Given the description of an element on the screen output the (x, y) to click on. 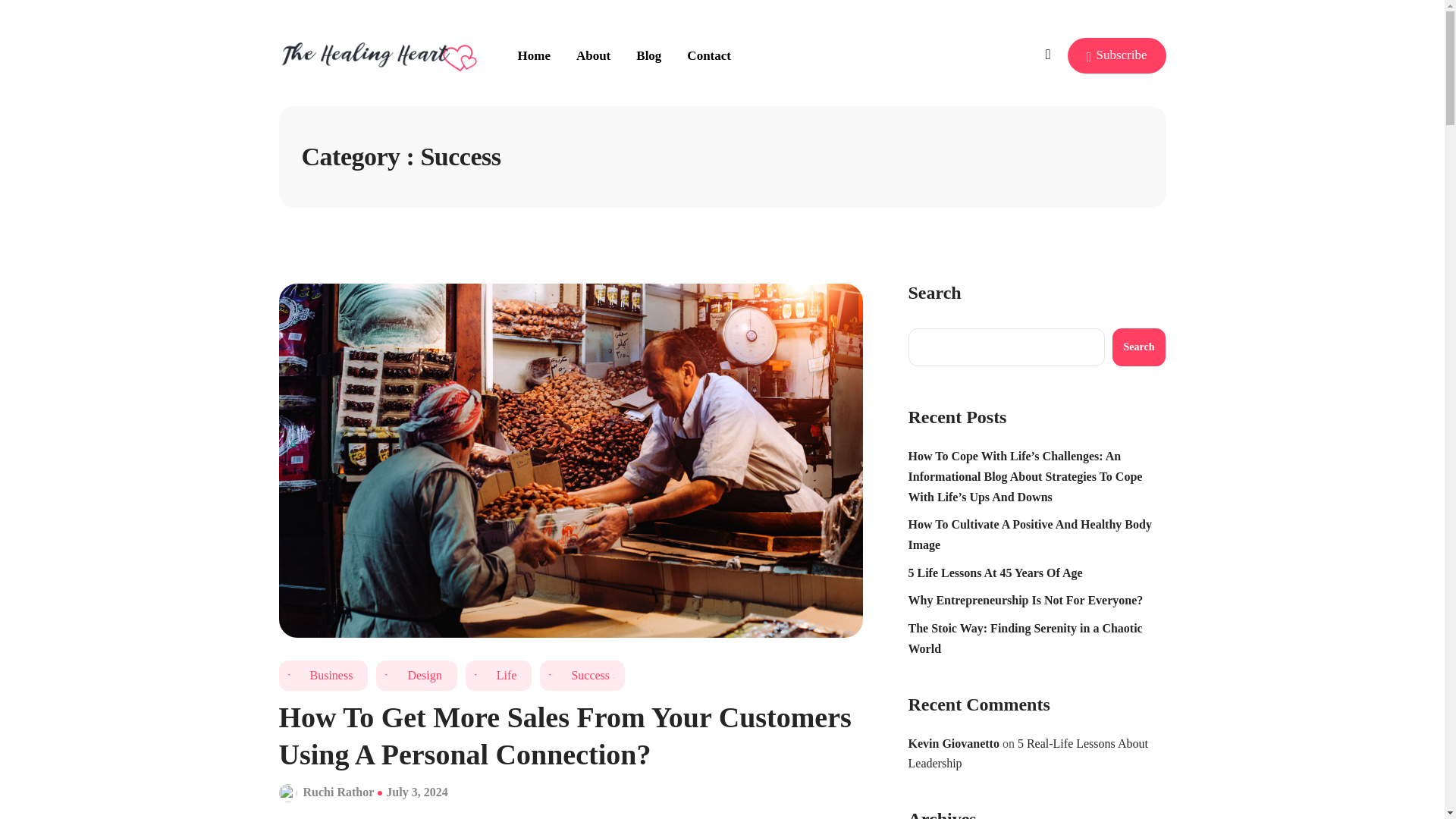
Life (498, 675)
Contact (702, 55)
Home (538, 55)
Success (582, 675)
Business (323, 675)
Blog (648, 55)
Design (416, 675)
Subscribe (1116, 55)
Ruchi Rathor (338, 792)
About (592, 55)
